Given the description of an element on the screen output the (x, y) to click on. 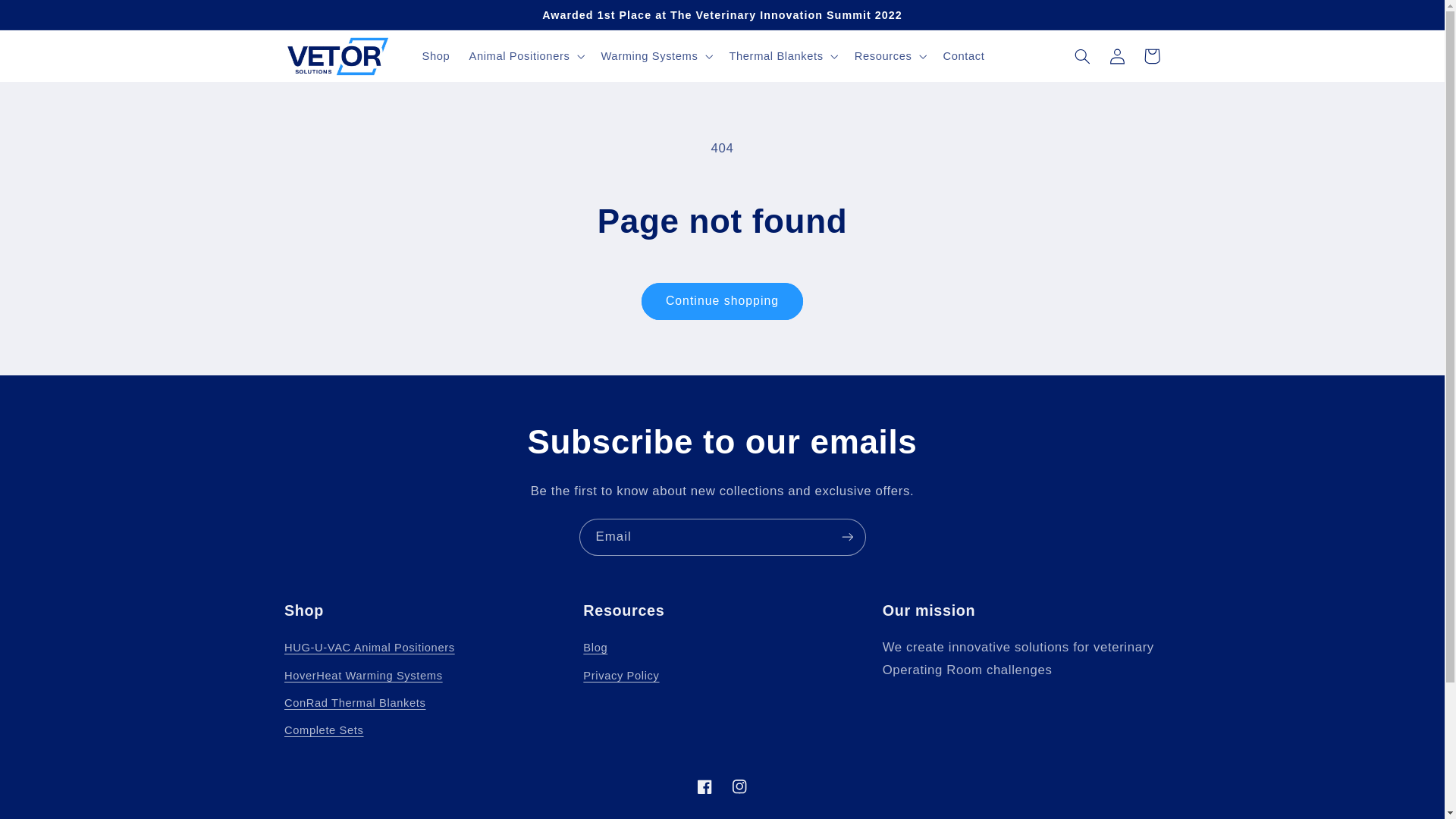
Skip to content (48, 18)
